Given the description of an element on the screen output the (x, y) to click on. 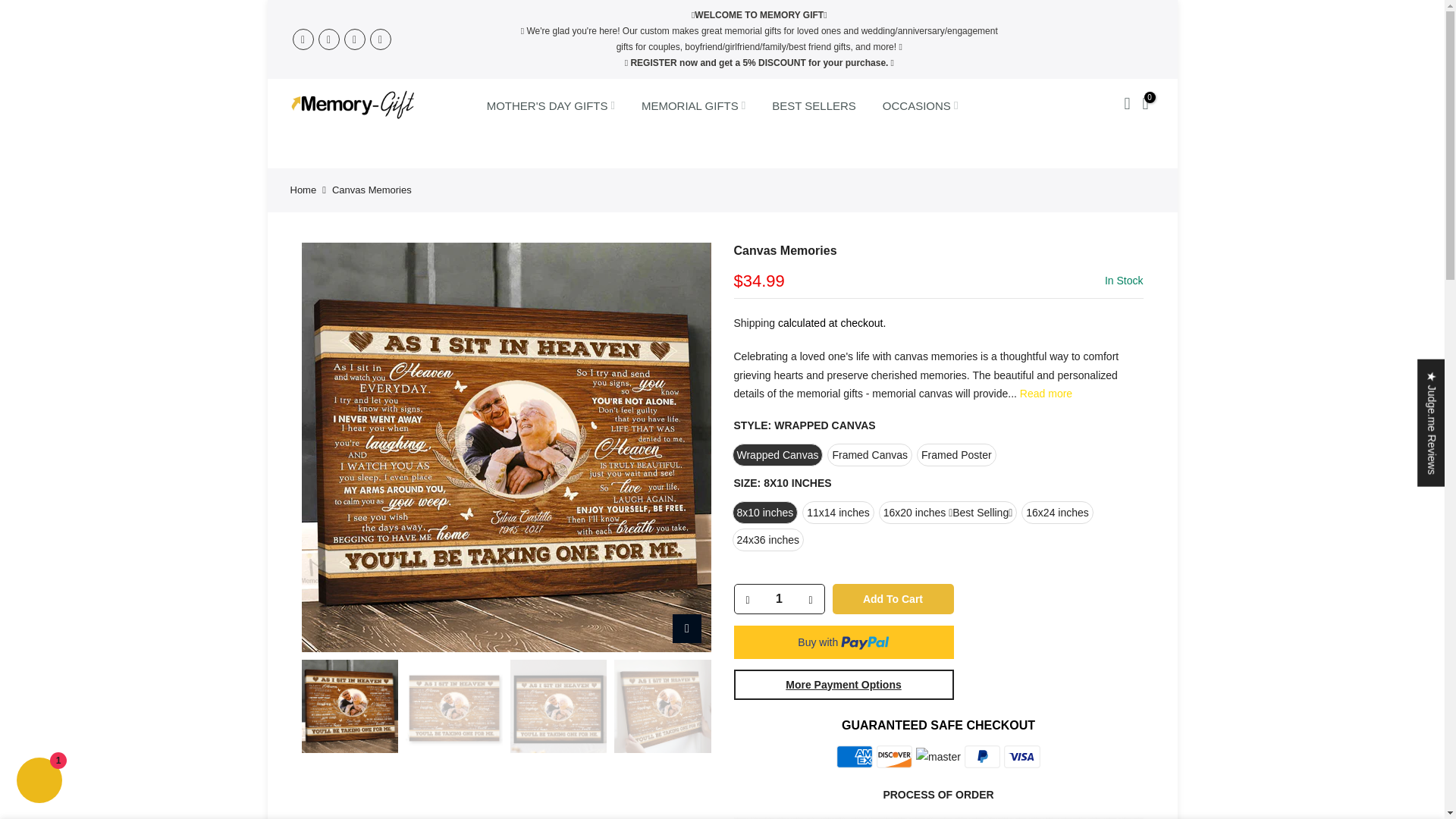
OCCASIONS (920, 104)
MOTHER'S DAY GIFTS (550, 104)
MEMORIAL GIFTS (692, 104)
1 (778, 598)
BEST SELLERS (813, 104)
Shopify online store chat (38, 781)
